Given the description of an element on the screen output the (x, y) to click on. 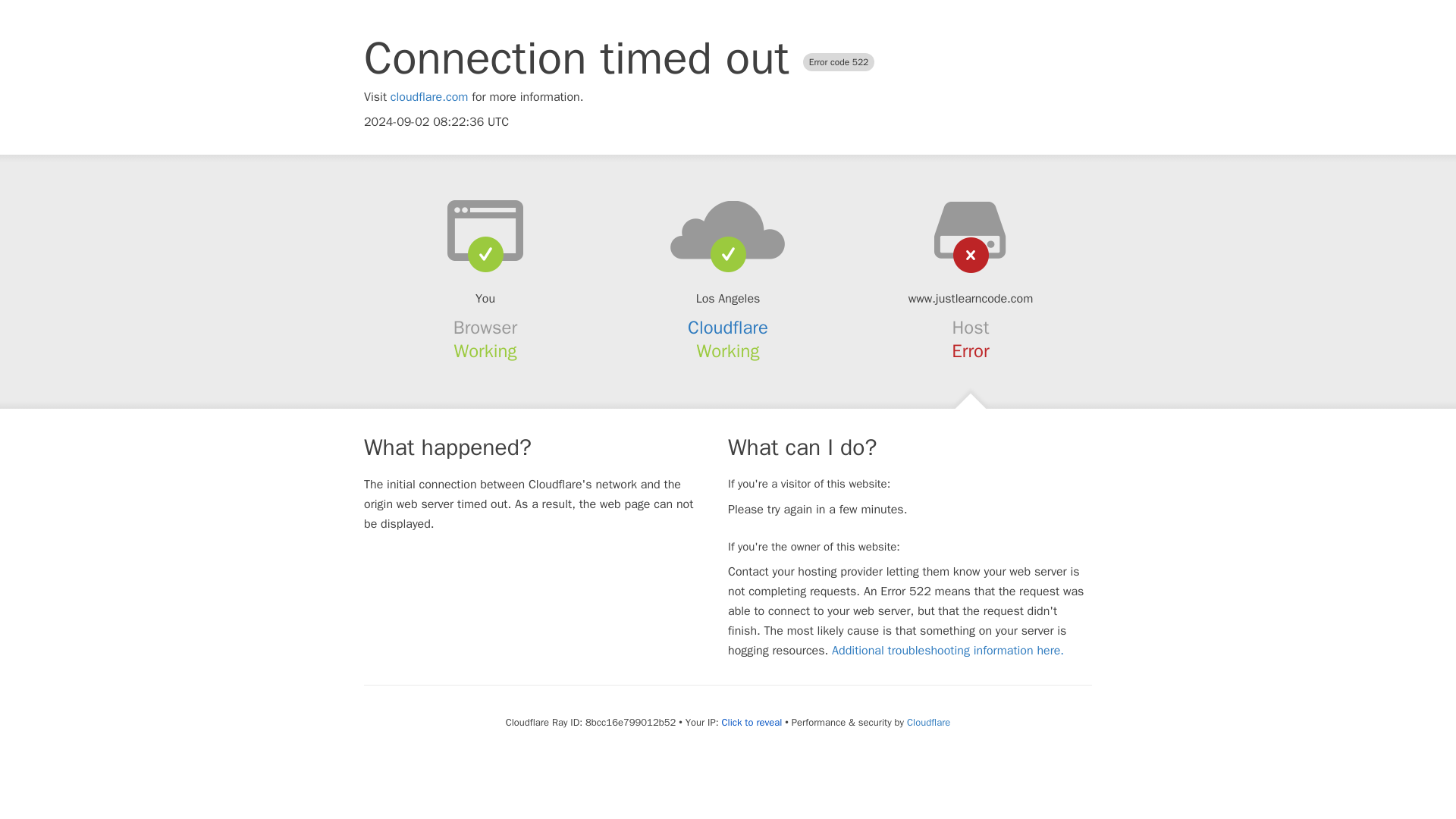
Cloudflare (928, 721)
Cloudflare (727, 327)
Click to reveal (750, 722)
Additional troubleshooting information here. (947, 650)
cloudflare.com (429, 96)
